Given the description of an element on the screen output the (x, y) to click on. 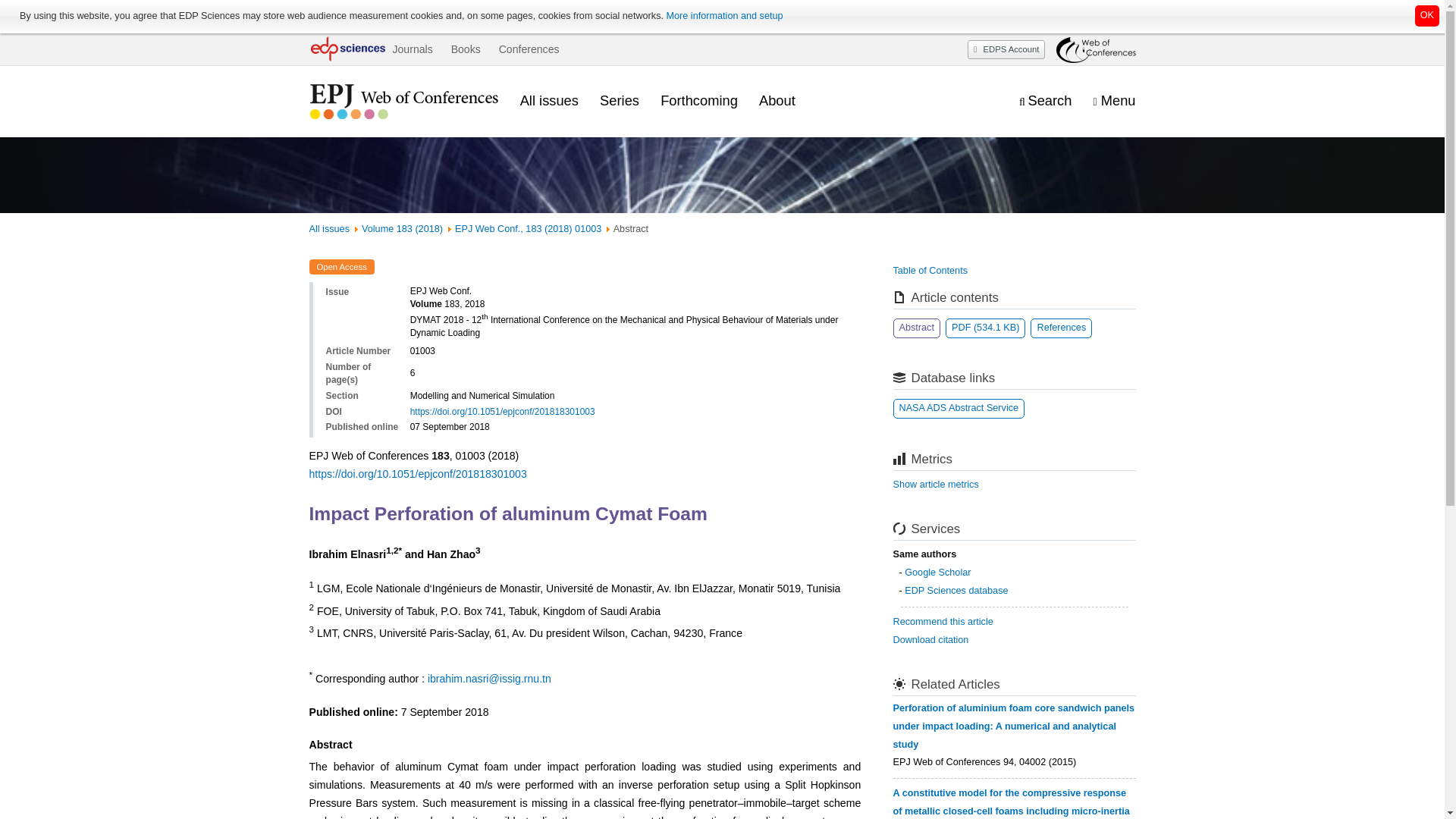
Conferences (529, 49)
Abstract (916, 328)
Click to close this notification (1427, 15)
Journal homepage (403, 101)
More information and setup (724, 15)
Books (465, 49)
Display the search engine (1045, 101)
Journals (411, 49)
OK (1427, 15)
